Given the description of an element on the screen output the (x, y) to click on. 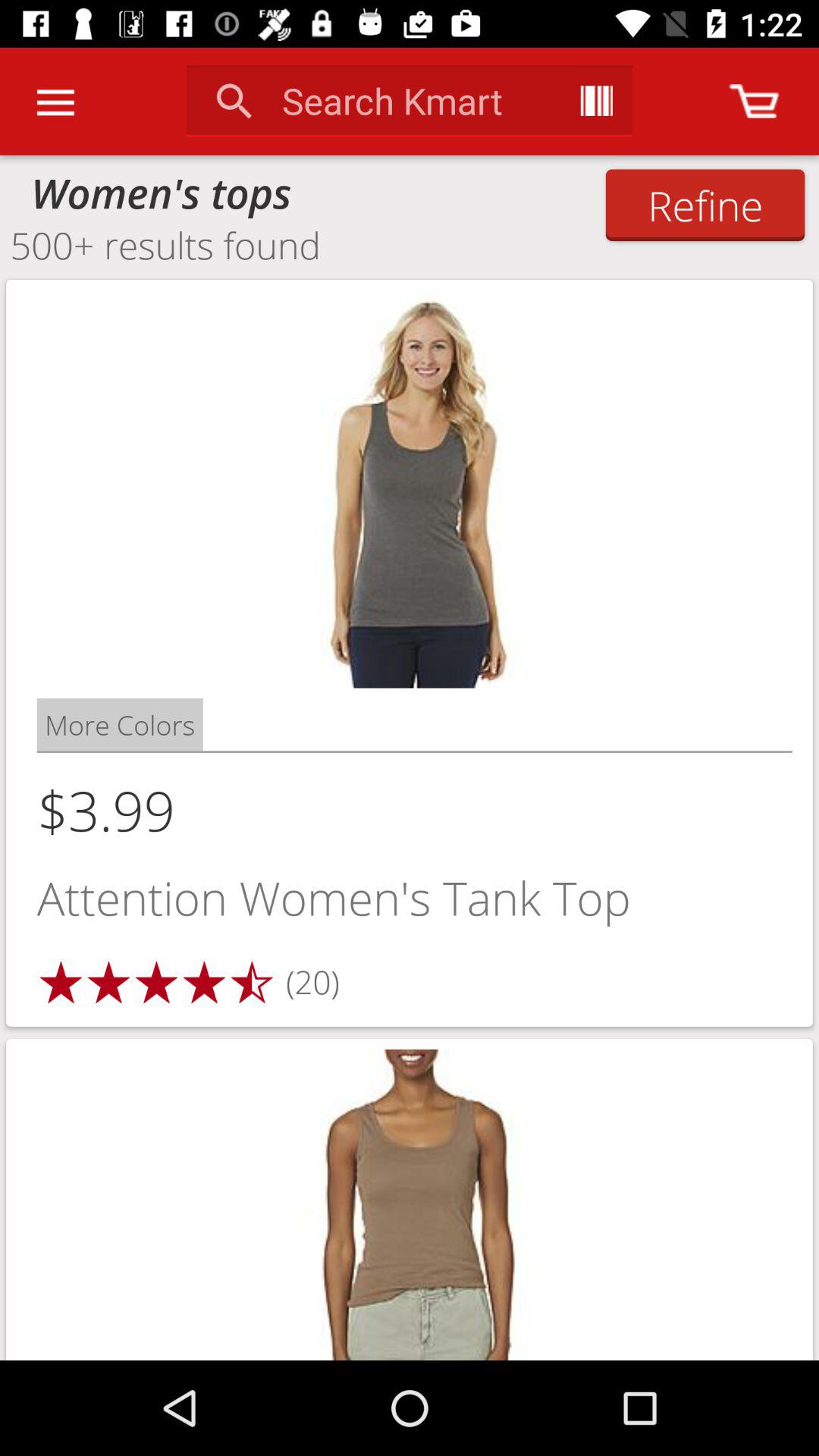
launch icon to the right of the  women's tops (704, 205)
